Given the description of an element on the screen output the (x, y) to click on. 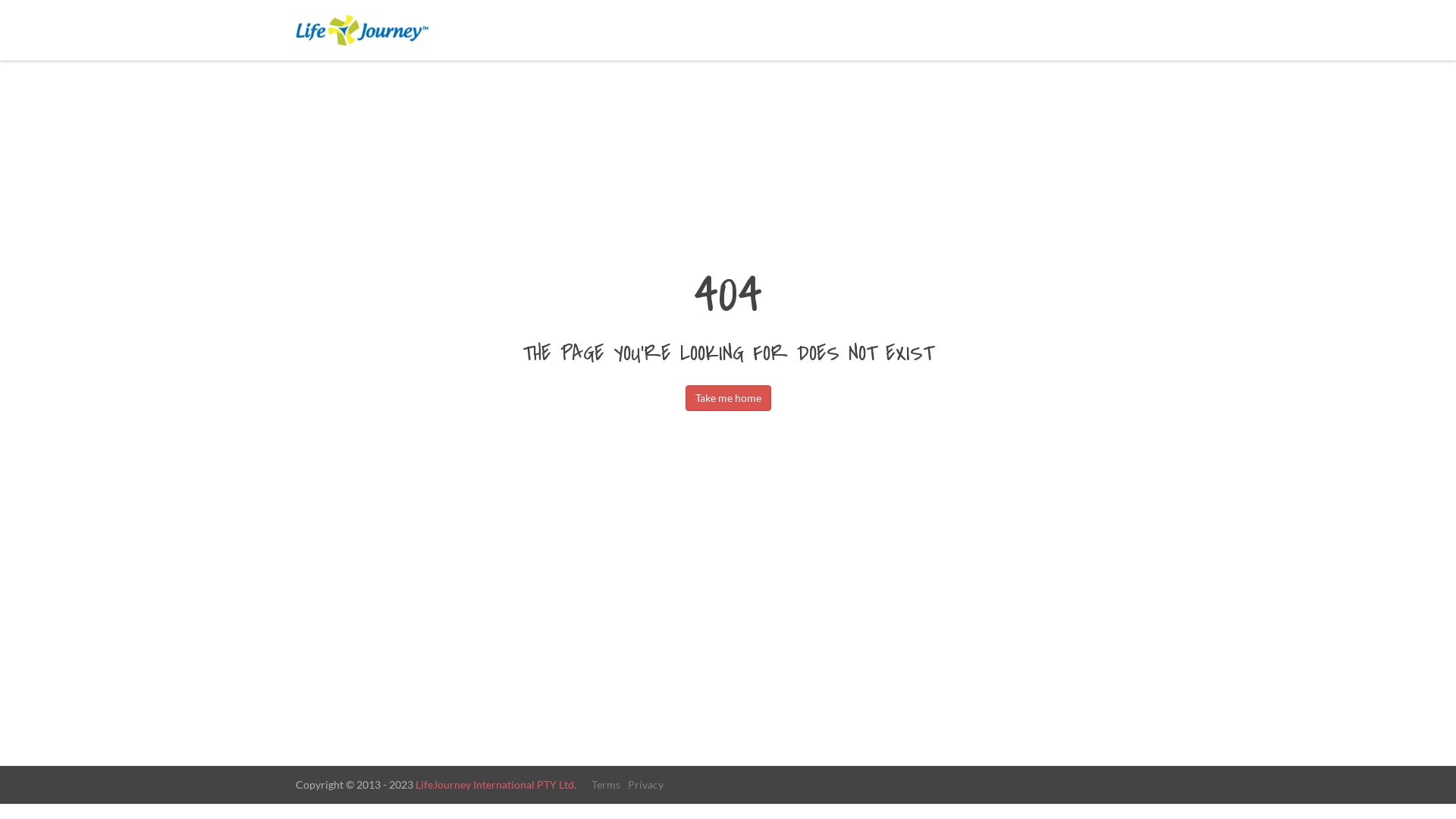
LifeJourney International PTY Ltd. Element type: text (495, 784)
Take me home Element type: text (728, 398)
Privacy Element type: text (645, 784)
HOME Element type: text (1174, 29)
Terms Element type: text (605, 784)
